Given the description of an element on the screen output the (x, y) to click on. 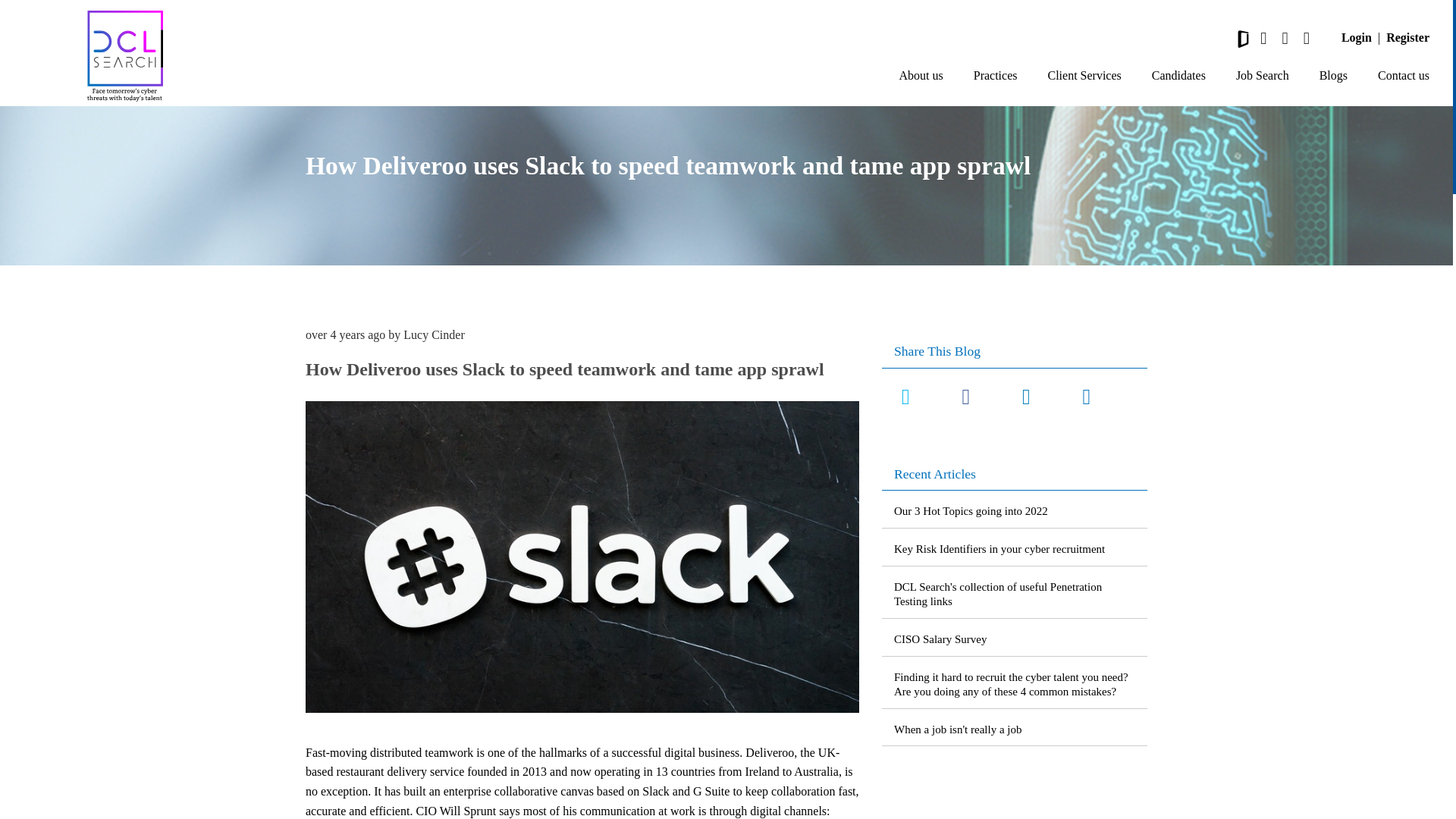
Candidates (1178, 75)
About us (921, 75)
Practices (995, 75)
Register (1407, 37)
Client Services (1083, 75)
Contact us (1403, 75)
Job Search (1262, 75)
DCL (124, 55)
